Given the description of an element on the screen output the (x, y) to click on. 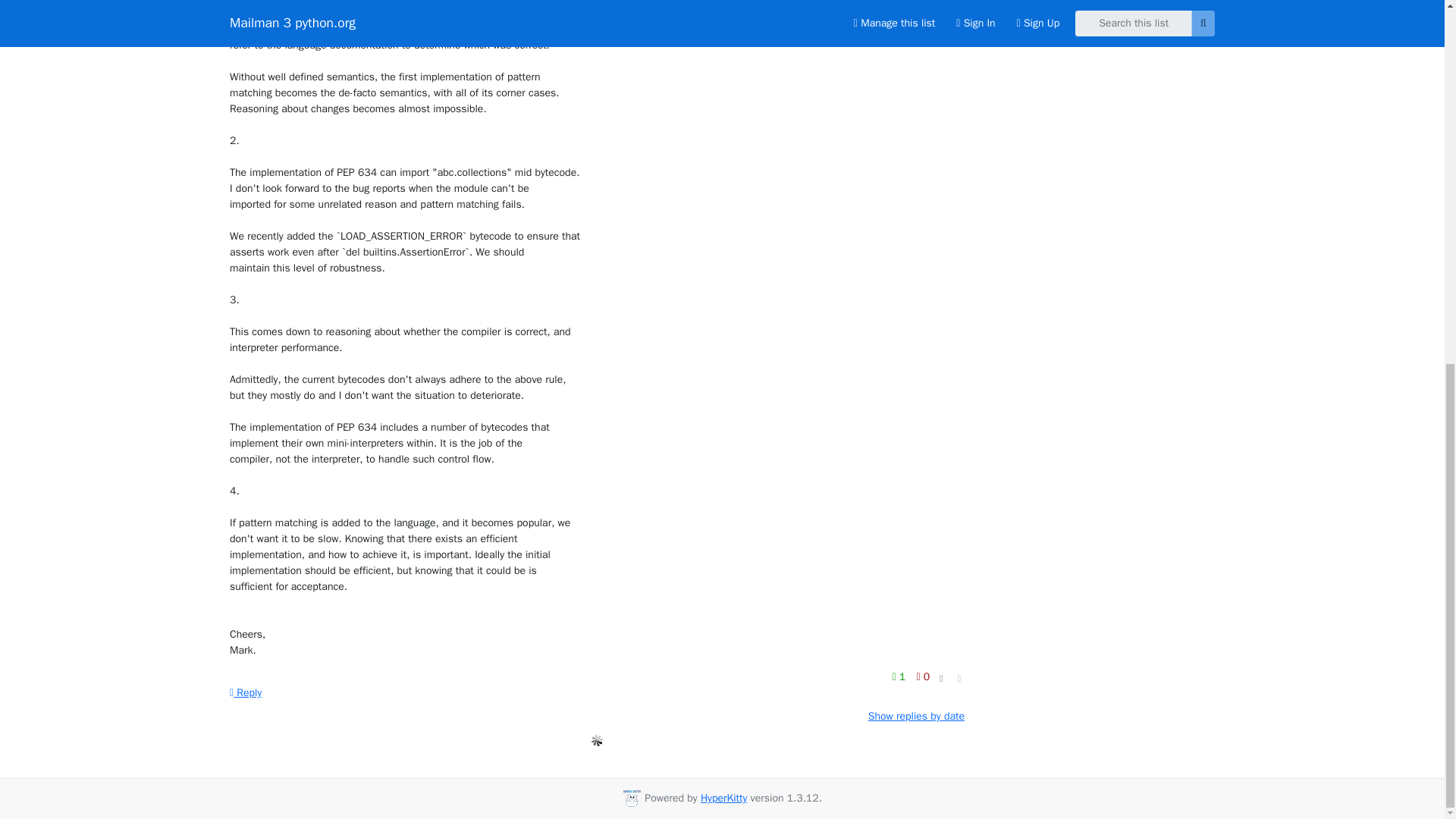
1 (900, 676)
You must be logged-in to vote. (900, 676)
You must be logged-in to vote. (922, 676)
Show replies by date (915, 716)
Reply (246, 692)
0 (922, 676)
Reply (246, 692)
Display in fixed font (941, 679)
Permalink for this message (958, 678)
HyperKitty (724, 797)
